Given the description of an element on the screen output the (x, y) to click on. 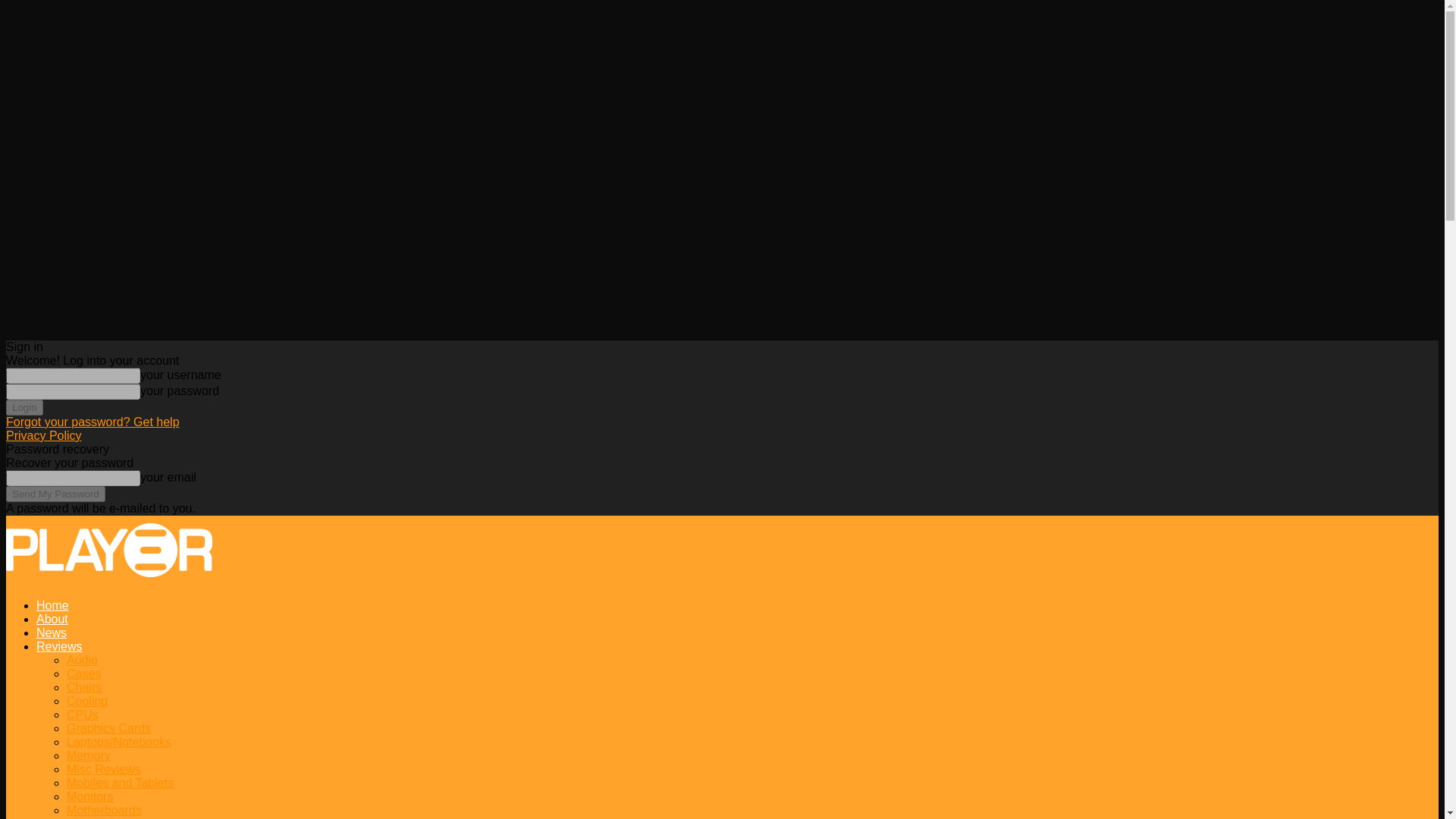
Reviews (58, 645)
Audio (81, 659)
Login (24, 407)
News (51, 632)
Chairs (83, 686)
Forgot your password? Get help (92, 421)
Send My Password (54, 494)
Cooling (86, 700)
Privacy Policy (43, 435)
Cases (83, 673)
Home (52, 604)
About (52, 618)
